Given the description of an element on the screen output the (x, y) to click on. 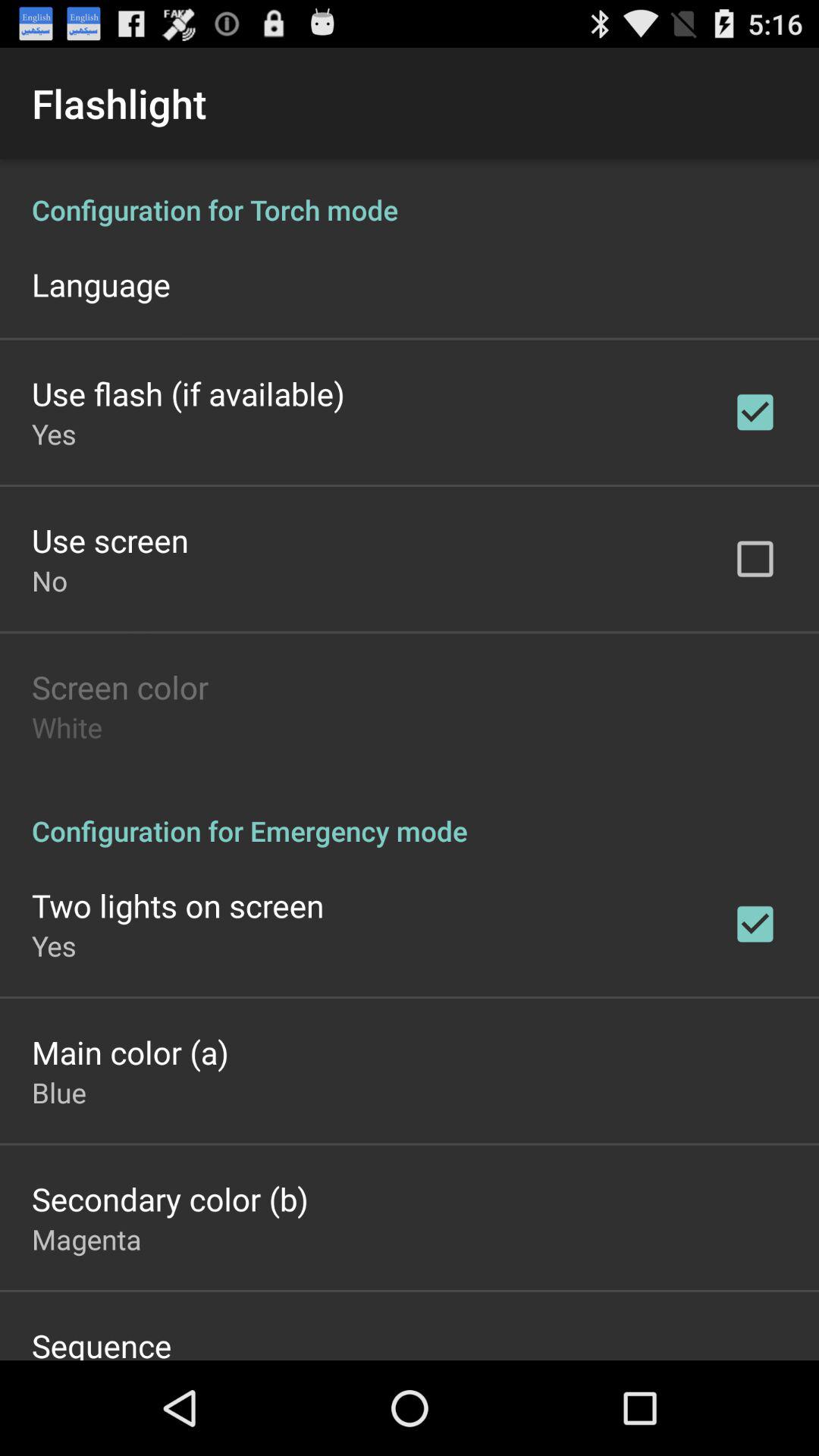
select the item below the no (119, 686)
